Given the description of an element on the screen output the (x, y) to click on. 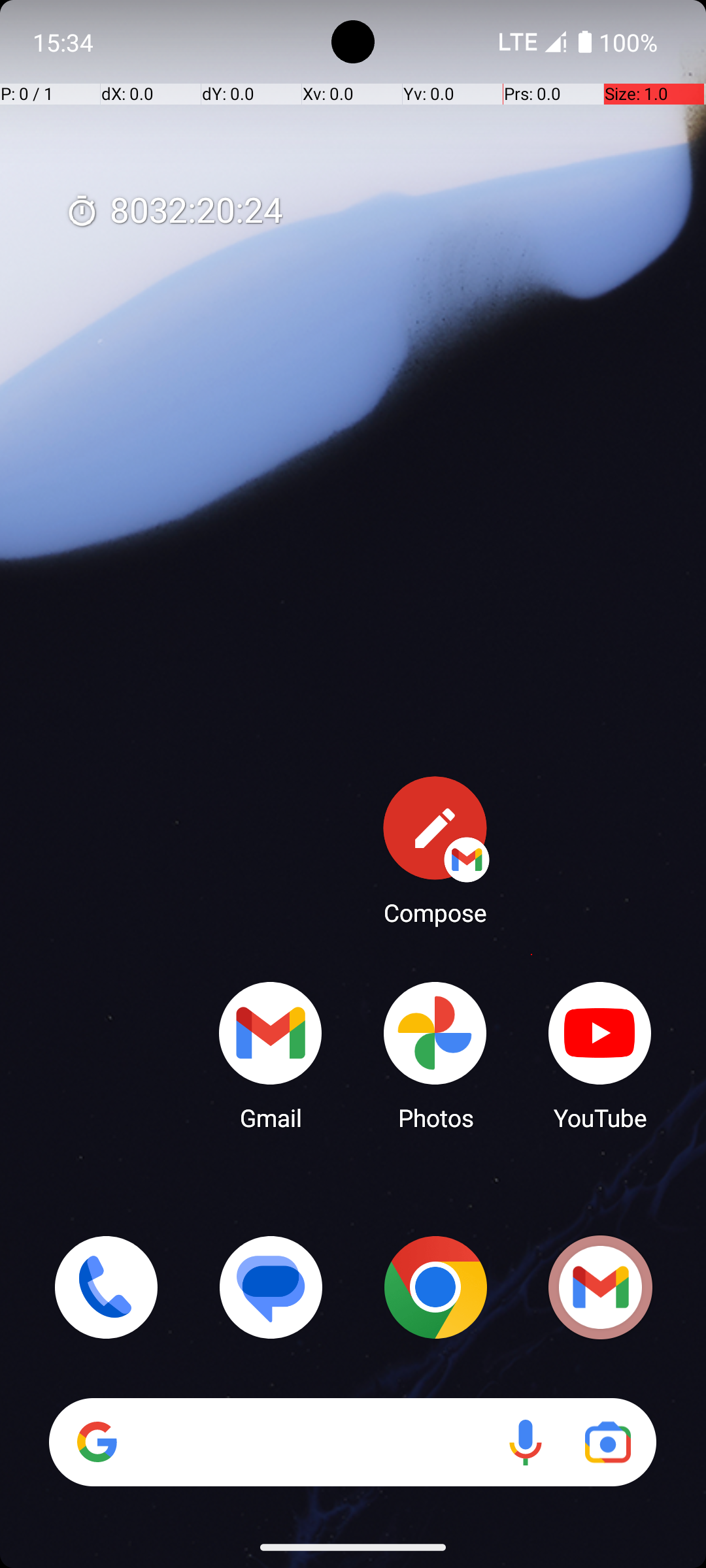
8032:20:24 Element type: android.widget.TextView (173, 210)
